Given the description of an element on the screen output the (x, y) to click on. 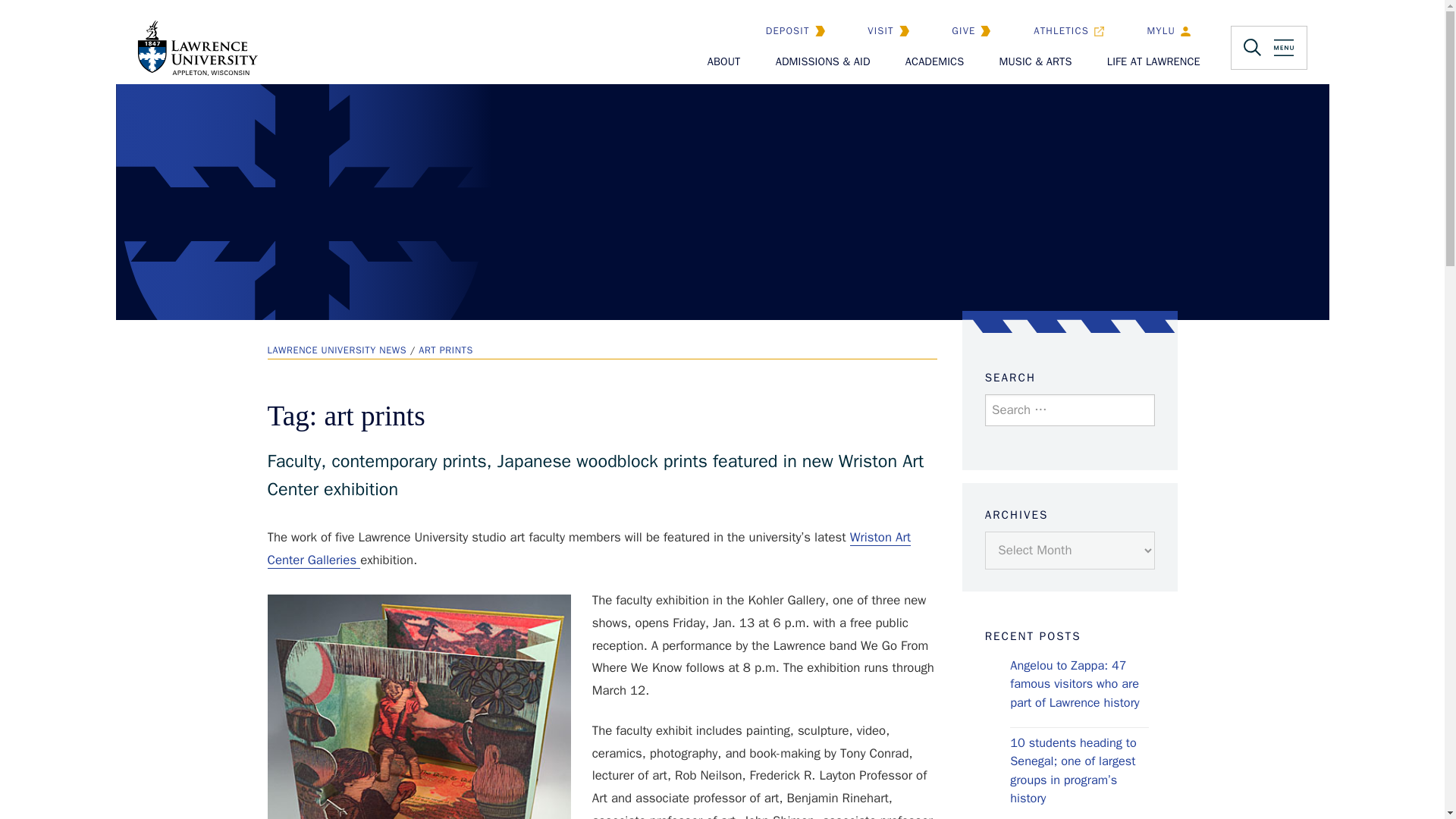
LIFE AT LAWRENCE (1153, 61)
ABOUT (724, 61)
DEPOSIT (800, 30)
Lawrence University (191, 75)
VISIT (893, 30)
MYLU (1174, 30)
GIVE (976, 30)
Search (1019, 461)
ATHLETICS (1074, 30)
